Given the description of an element on the screen output the (x, y) to click on. 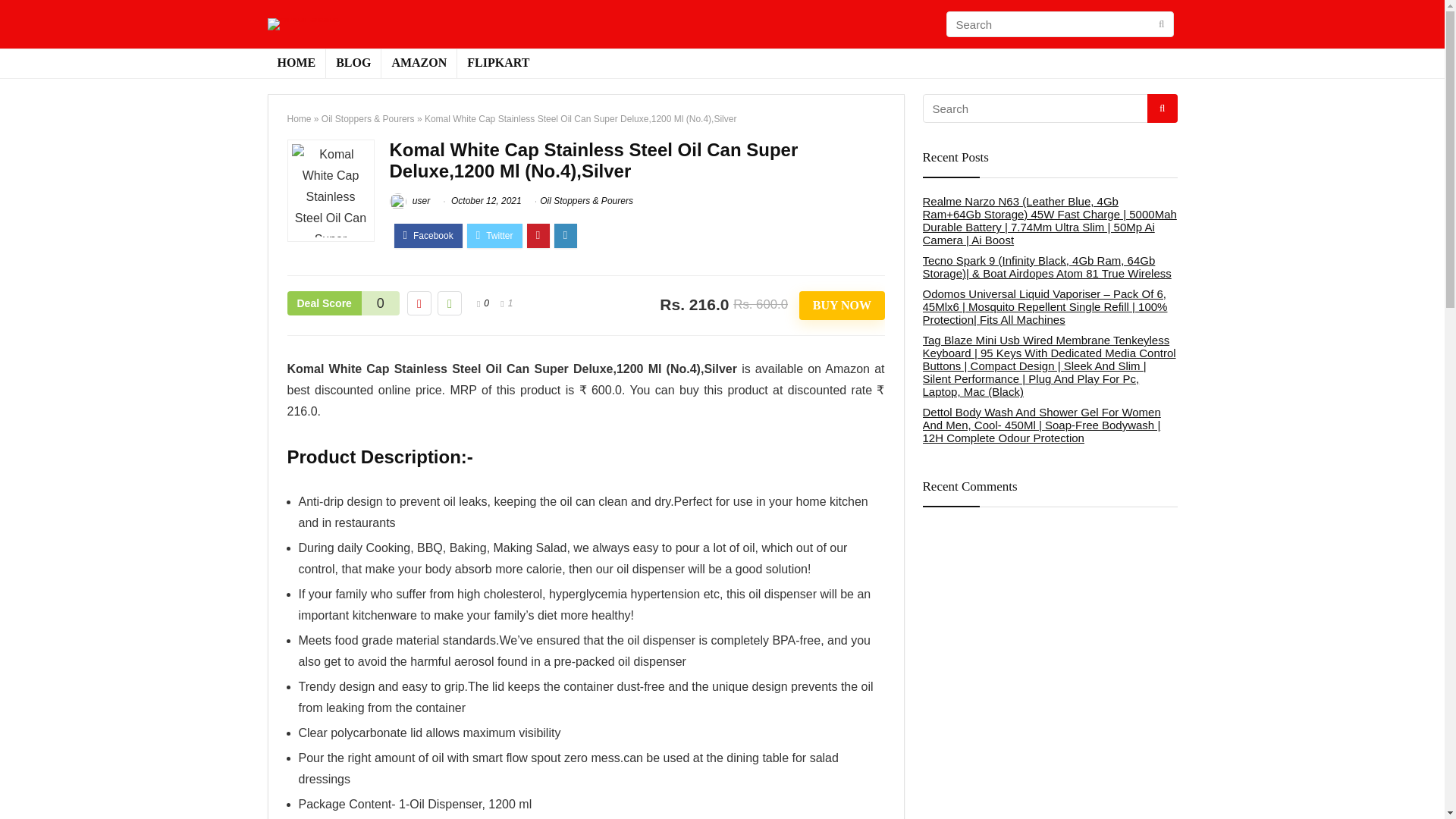
FLIPKART (497, 63)
user (410, 200)
Home (298, 118)
AMAZON (419, 63)
BLOG (353, 63)
Vote up (449, 303)
HOME (295, 63)
BUY NOW (841, 305)
Vote down (418, 303)
